Given the description of an element on the screen output the (x, y) to click on. 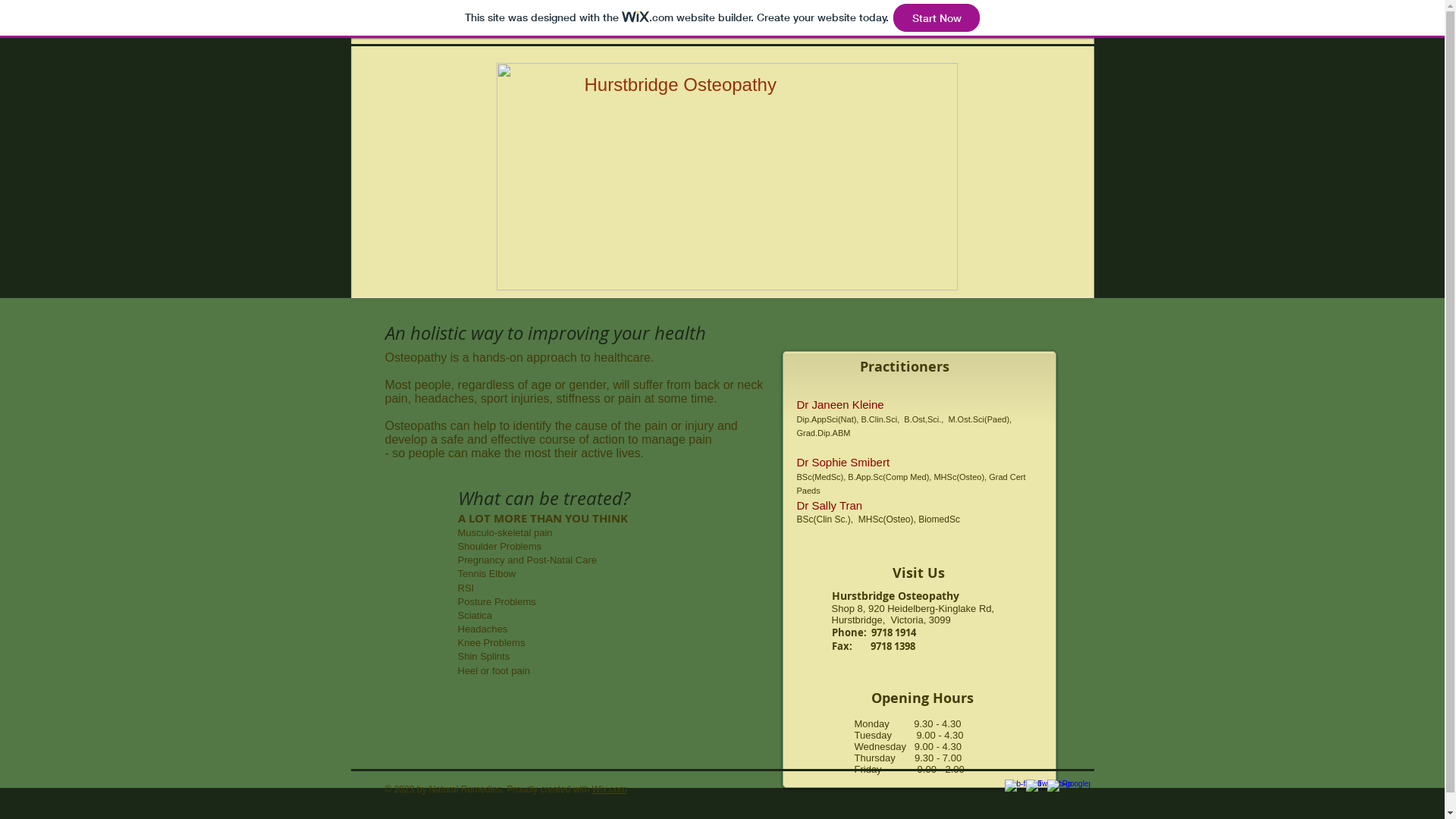
Wix.com Element type: text (608, 789)
Facebook Like Element type: hover (479, 314)
Hurstbridge Osteopathy Element type: hover (726, 176)
